Given the description of an element on the screen output the (x, y) to click on. 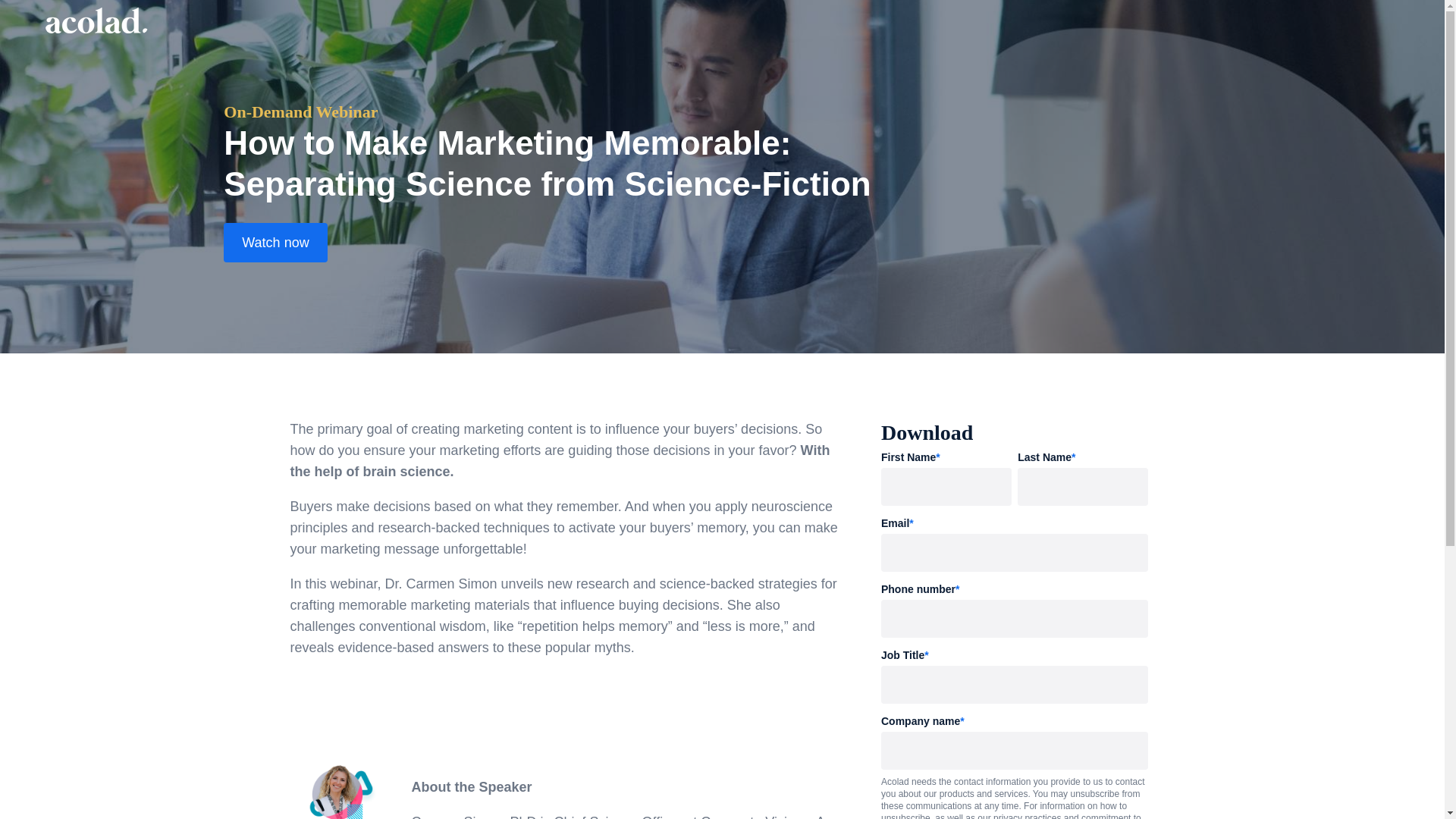
Watch now (275, 242)
Acolad (96, 20)
